Given the description of an element on the screen output the (x, y) to click on. 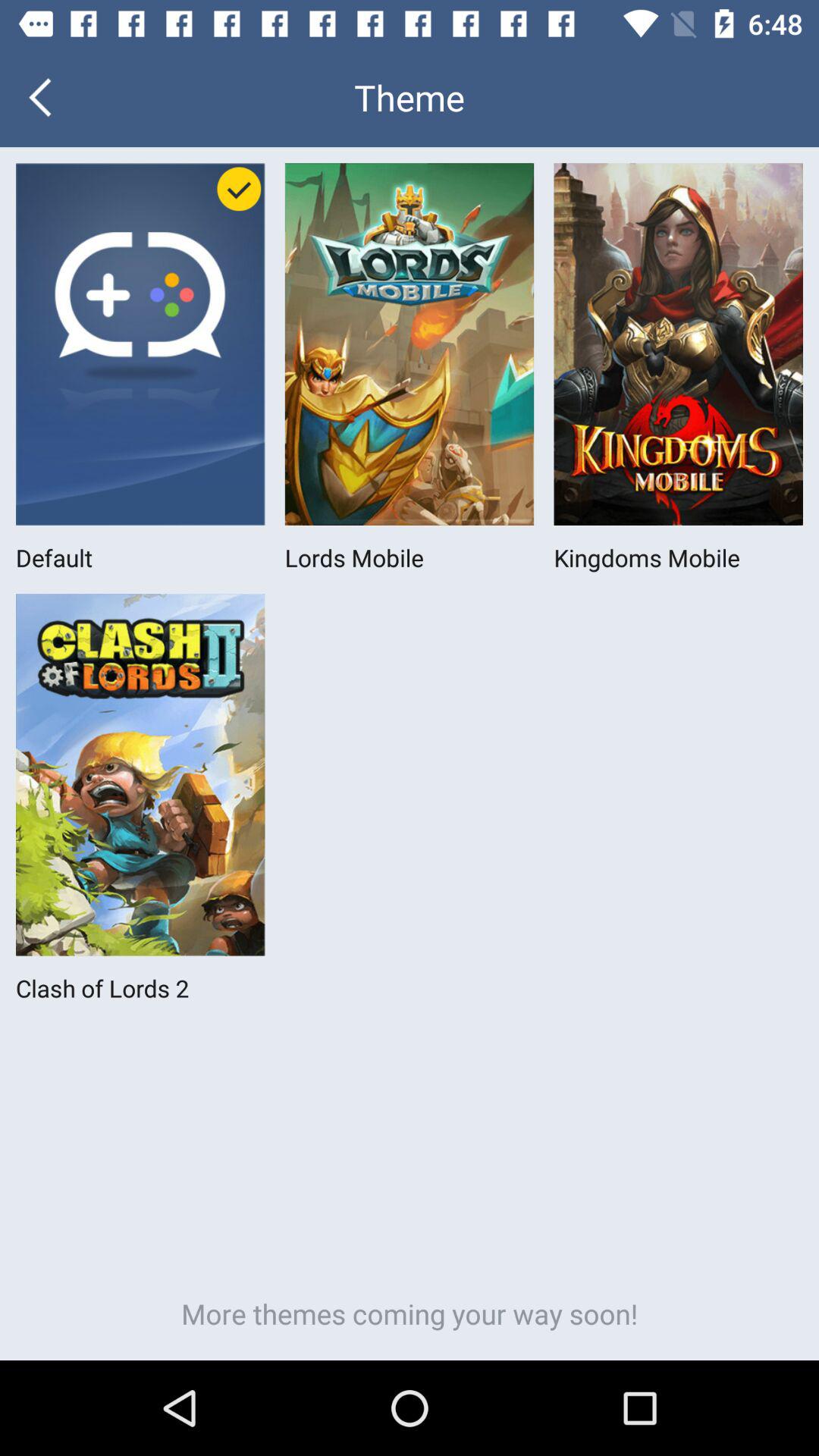
tap on the first row second image (409, 344)
select the kingdoms mobile picture (678, 344)
click on the icon above clash of lords 2 (140, 775)
